Given the description of an element on the screen output the (x, y) to click on. 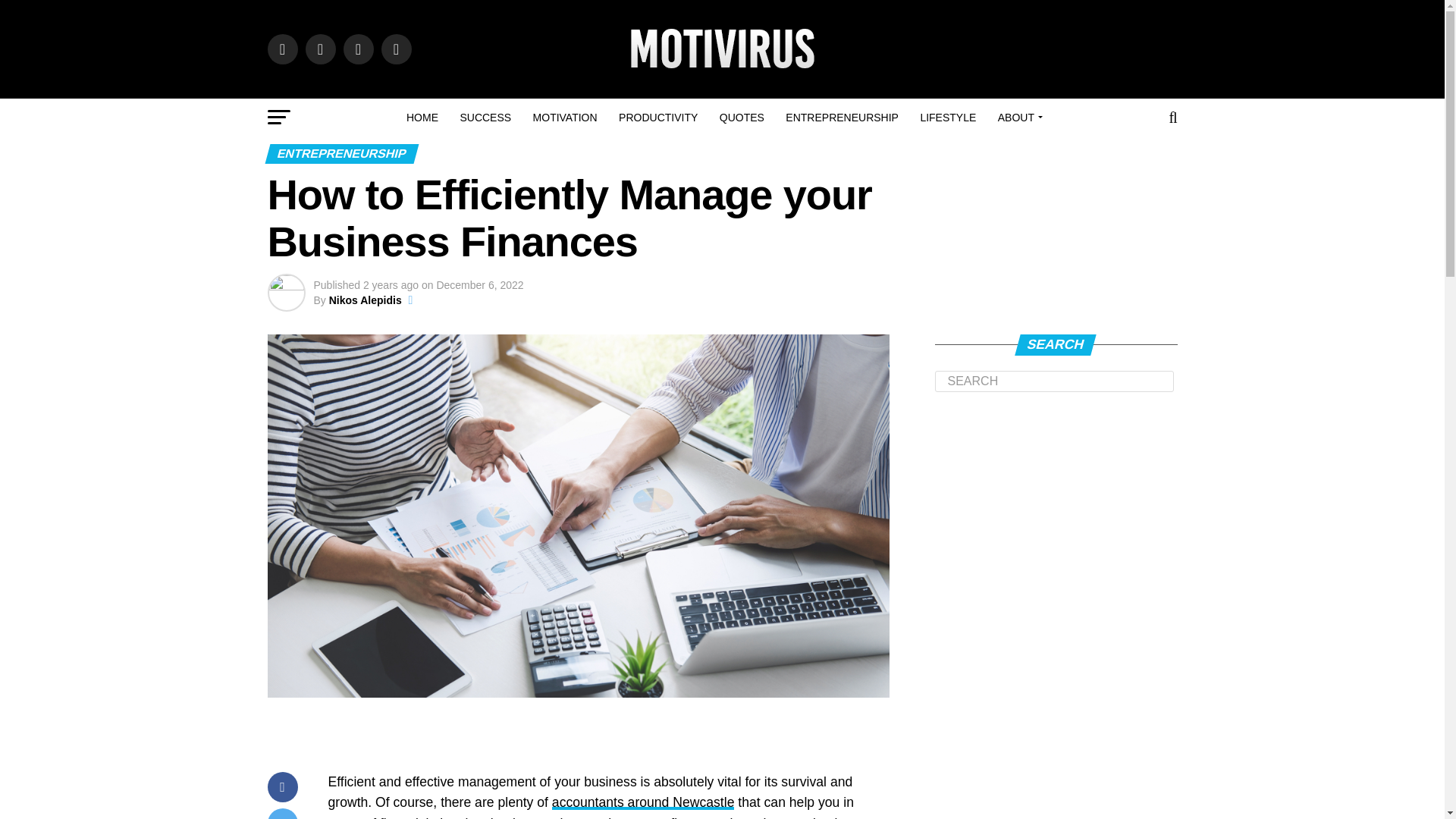
QUOTES (741, 117)
Search (1053, 381)
Posts by Nikos Alepidis (365, 300)
LIFESTYLE (948, 117)
PRODUCTIVITY (658, 117)
ENTREPRENEURSHIP (841, 117)
SUCCESS (484, 117)
ABOUT (1017, 117)
Nikos Alepidis (365, 300)
HOME (421, 117)
